Given the description of an element on the screen output the (x, y) to click on. 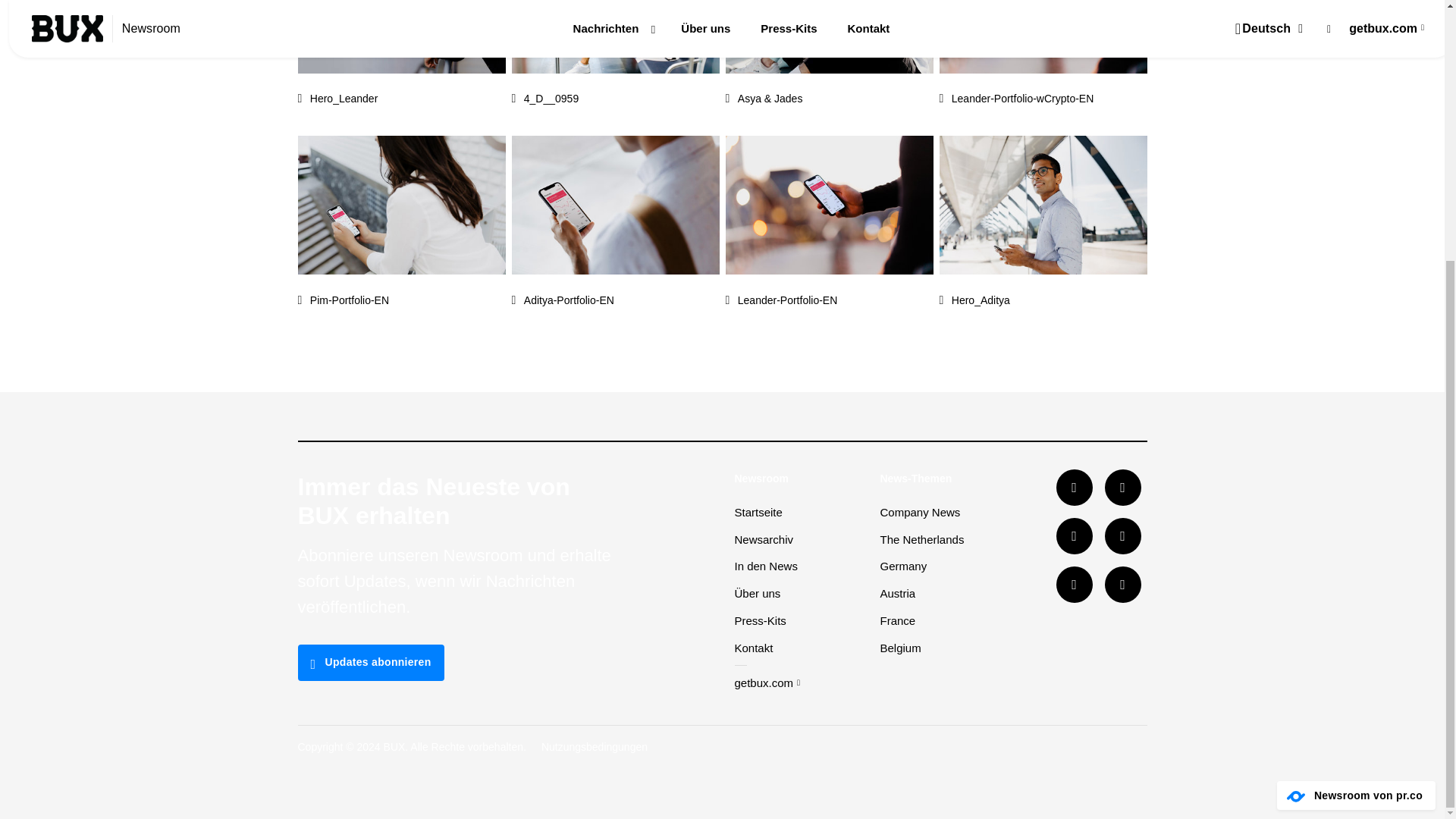
Company News News (919, 512)
Austria News (897, 593)
Newsroom von pr.co (1295, 796)
The Netherlands News (921, 539)
Germany News (902, 565)
